Given the description of an element on the screen output the (x, y) to click on. 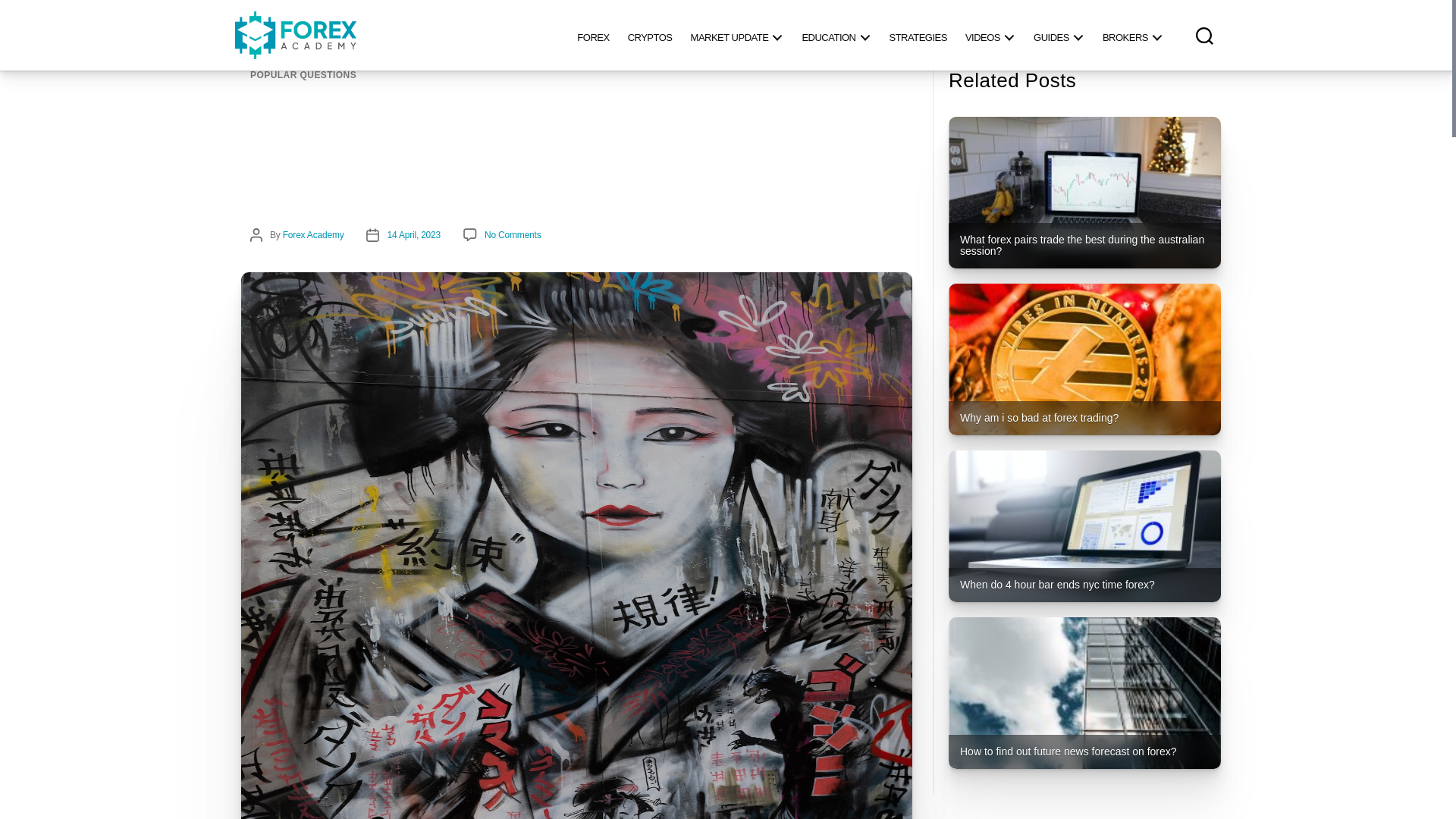
GUIDES (1059, 35)
How to find out future news forecast on forex? (1085, 693)
Why am i so bad at forex trading? (1085, 358)
STRATEGIES (917, 35)
VIDEOS (990, 35)
EDUCATION (835, 35)
MARKET UPDATE (737, 35)
BROKERS (1132, 35)
CRYPTOS (649, 35)
When do 4 hour bar ends nyc time forex? (1085, 525)
